Given the description of an element on the screen output the (x, y) to click on. 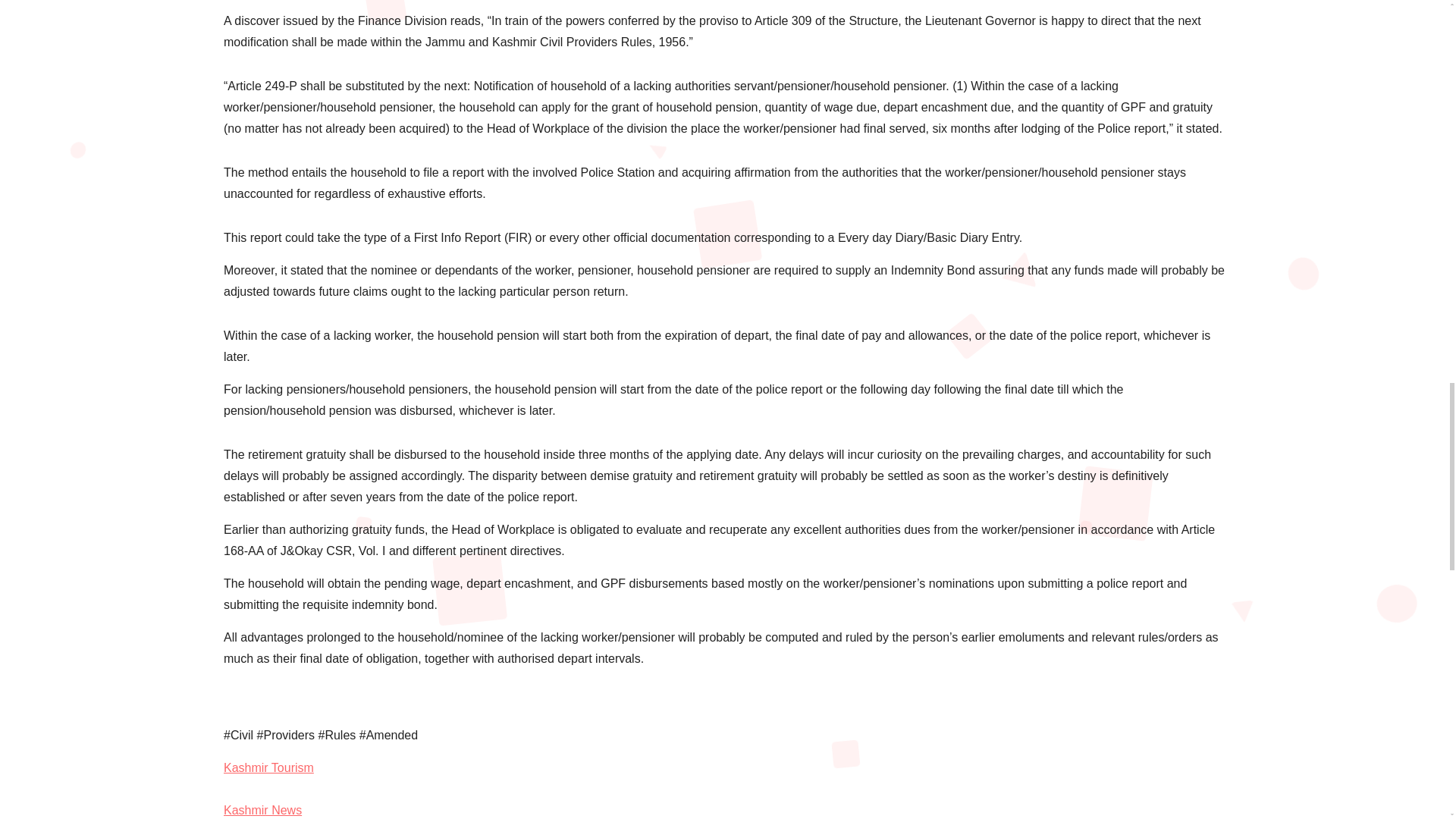
Kashmir News (262, 809)
Kashmir Tourism (269, 767)
